Given the description of an element on the screen output the (x, y) to click on. 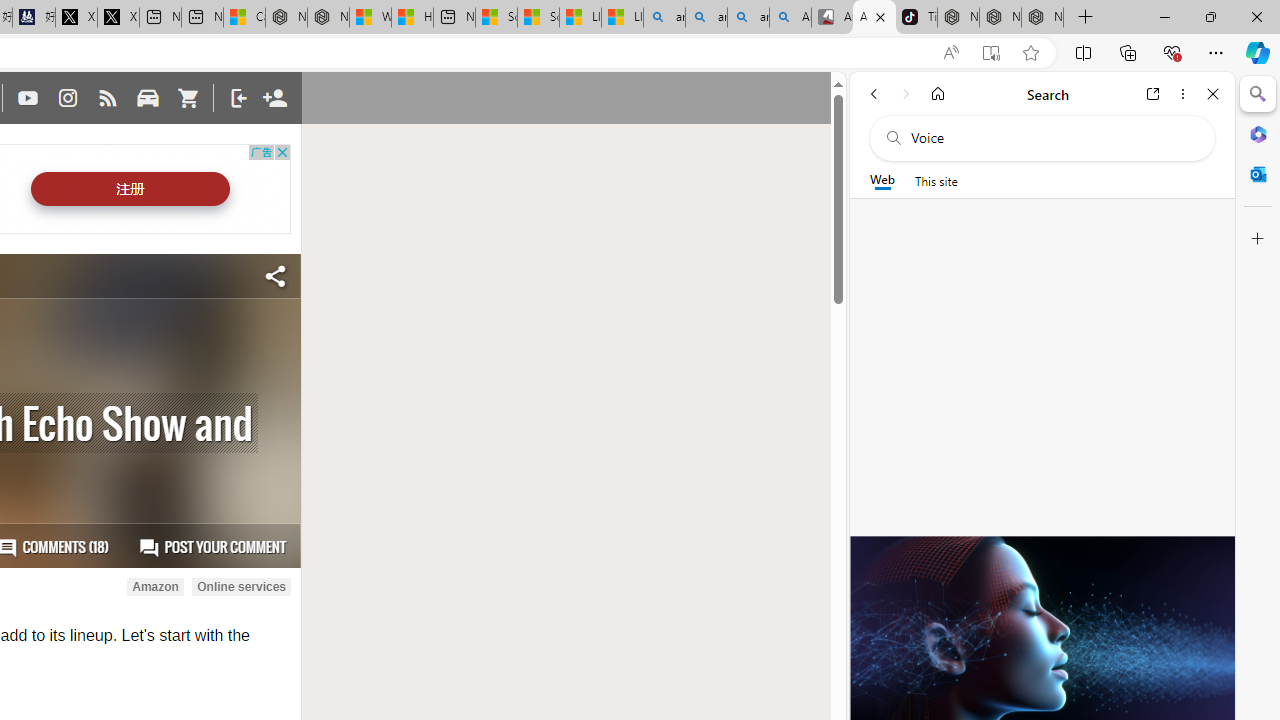
Outlook (1258, 174)
Enter Immersive Reader (F9) (991, 53)
amazon - Search (706, 17)
This site scope (936, 180)
